Given the description of an element on the screen output the (x, y) to click on. 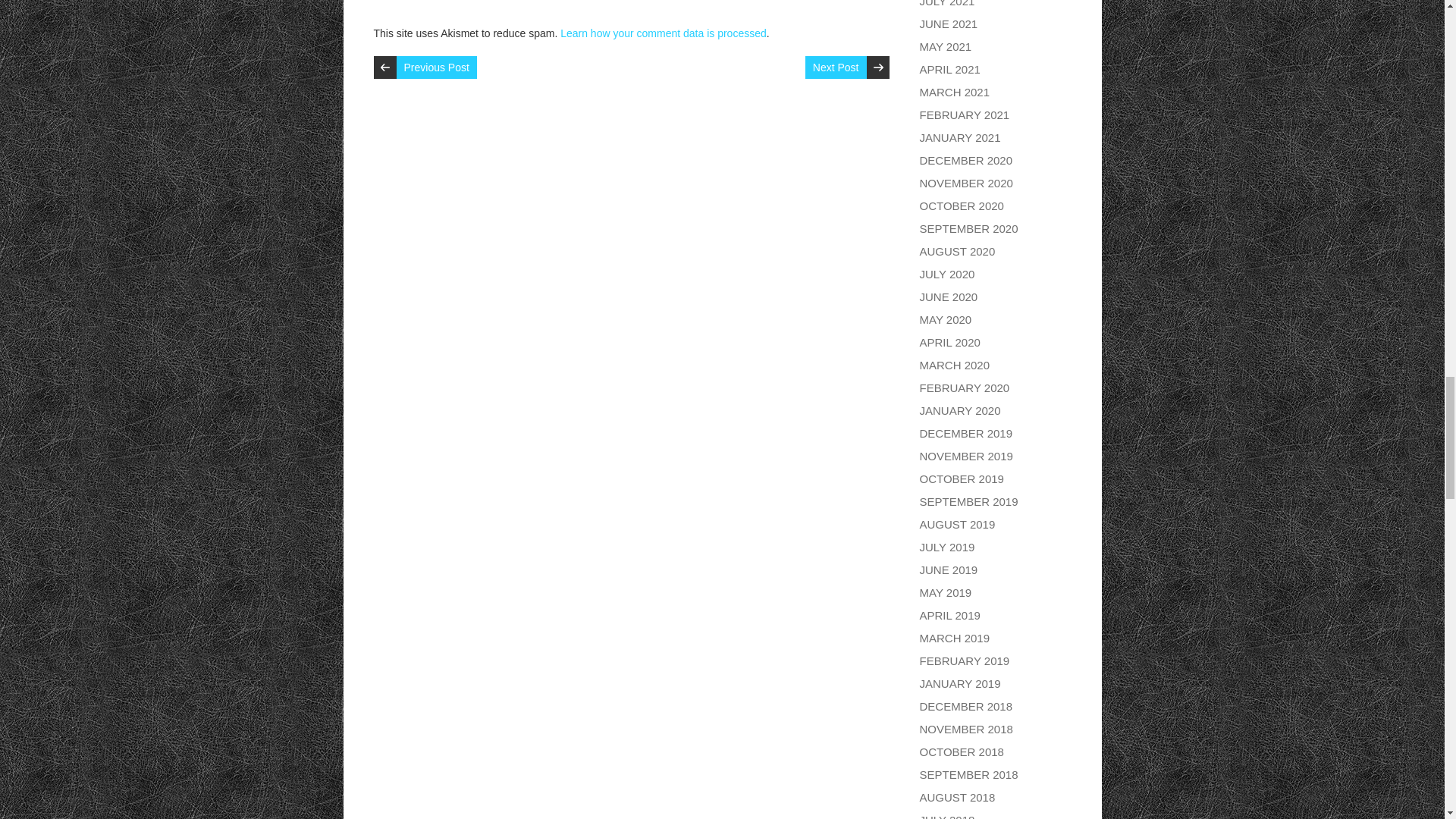
Learn how your comment data is processed (663, 33)
Previous Post (436, 67)
Next Post (835, 67)
